Given the description of an element on the screen output the (x, y) to click on. 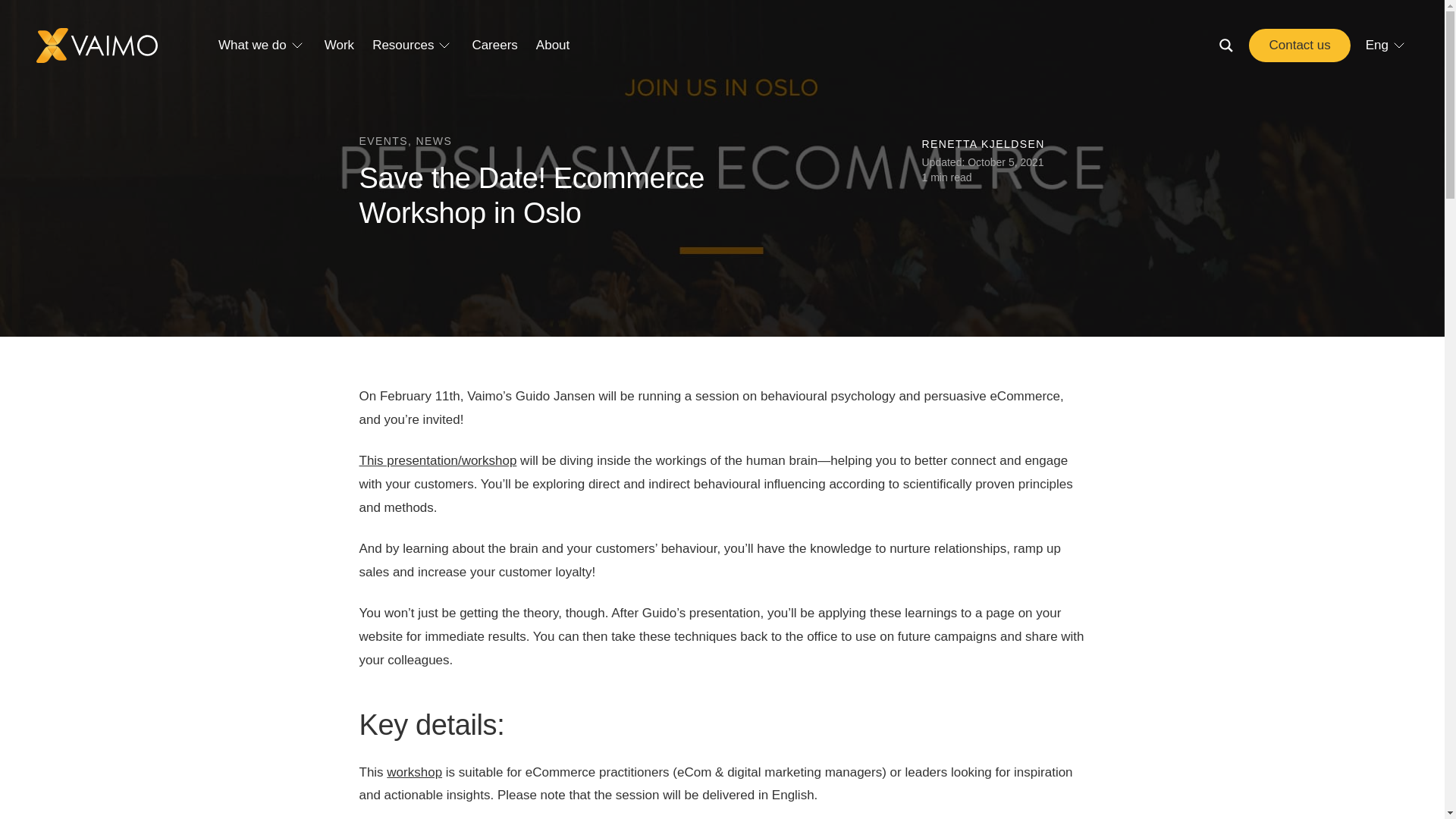
What we do (252, 45)
Change language (1386, 45)
Vaimo (96, 44)
Eng (1386, 45)
